Given the description of an element on the screen output the (x, y) to click on. 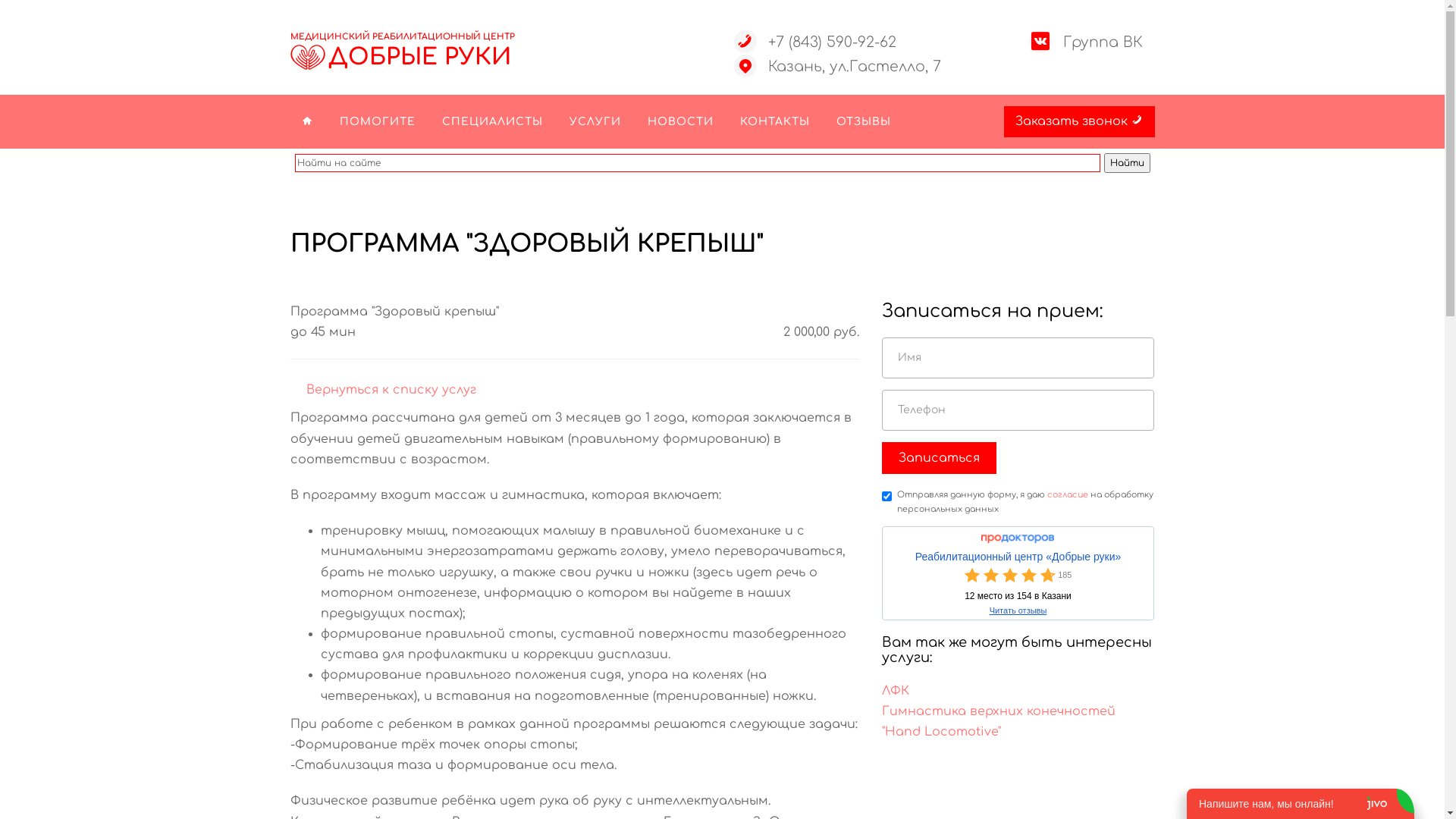
+7 (843) 590-92-62 Element type: text (831, 42)
